Given the description of an element on the screen output the (x, y) to click on. 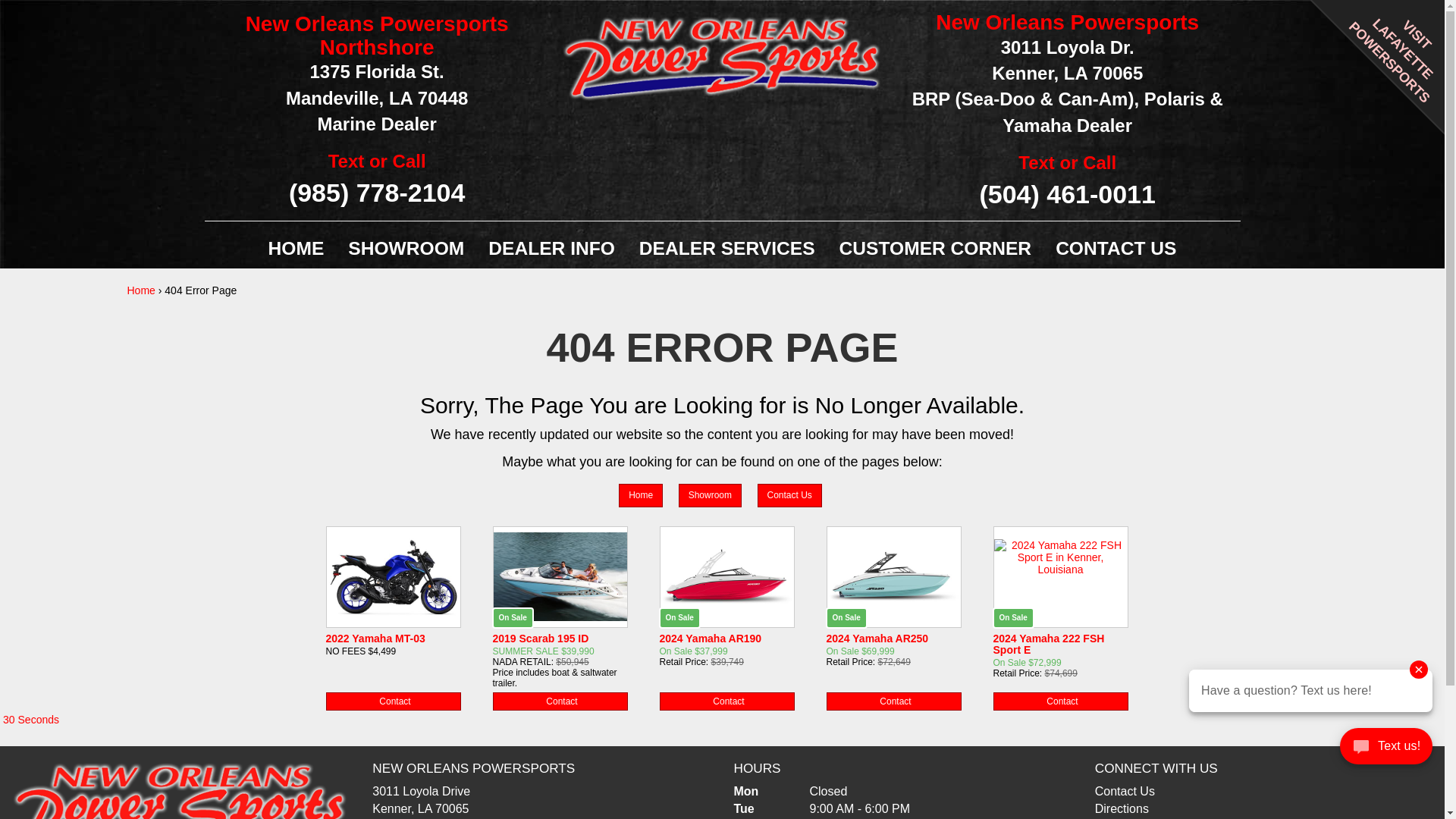
CUSTOMER CORNER (935, 248)
HOME (296, 248)
SHOWROOM (406, 248)
DEALER INFO (551, 248)
New Orleans Powersports Northshore (376, 36)
DEALER SERVICES (727, 248)
New Orleans Powersports (376, 97)
New Orleans Powersports (180, 806)
